Given the description of an element on the screen output the (x, y) to click on. 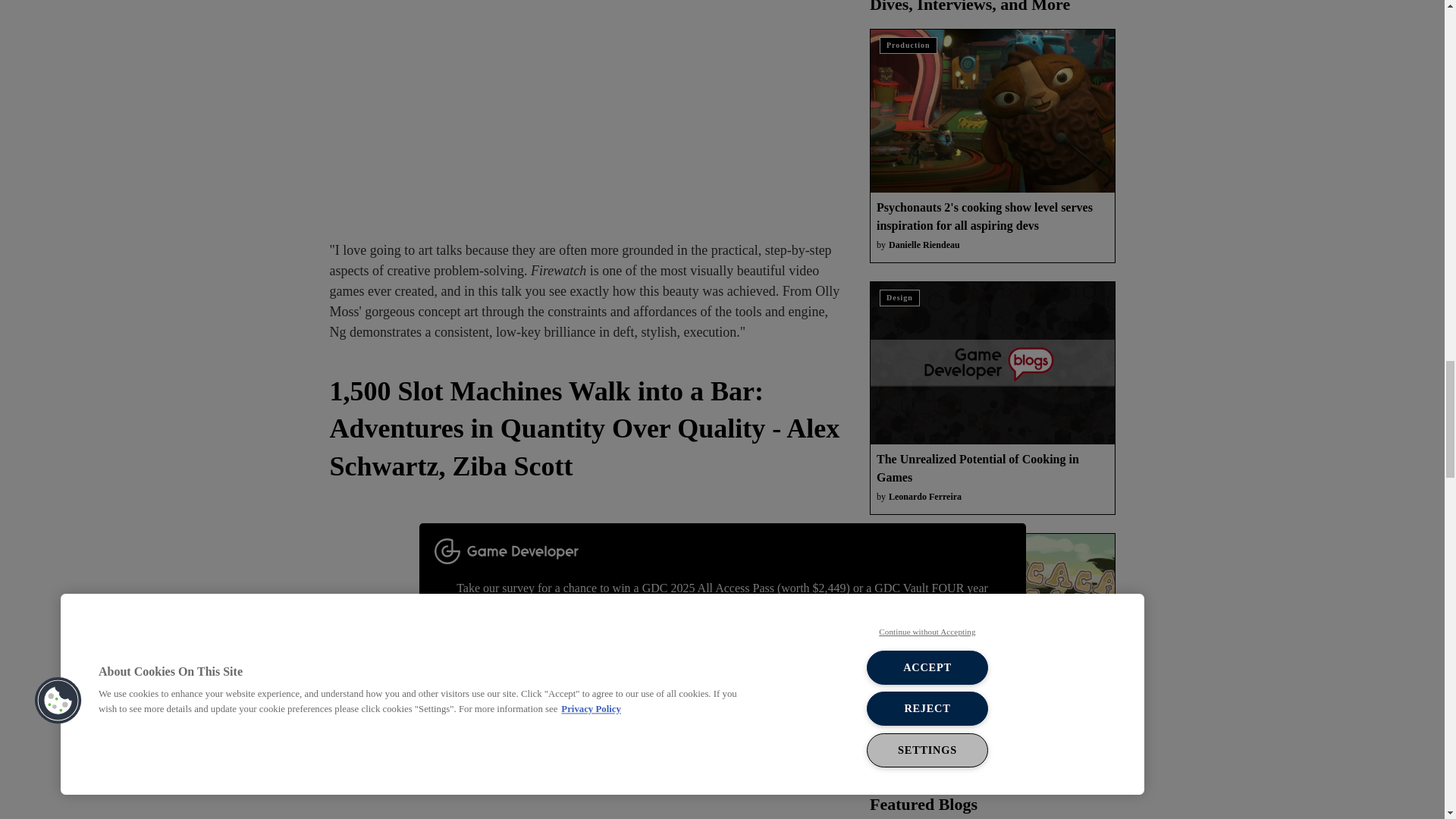
Embedded content (586, 104)
